Given the description of an element on the screen output the (x, y) to click on. 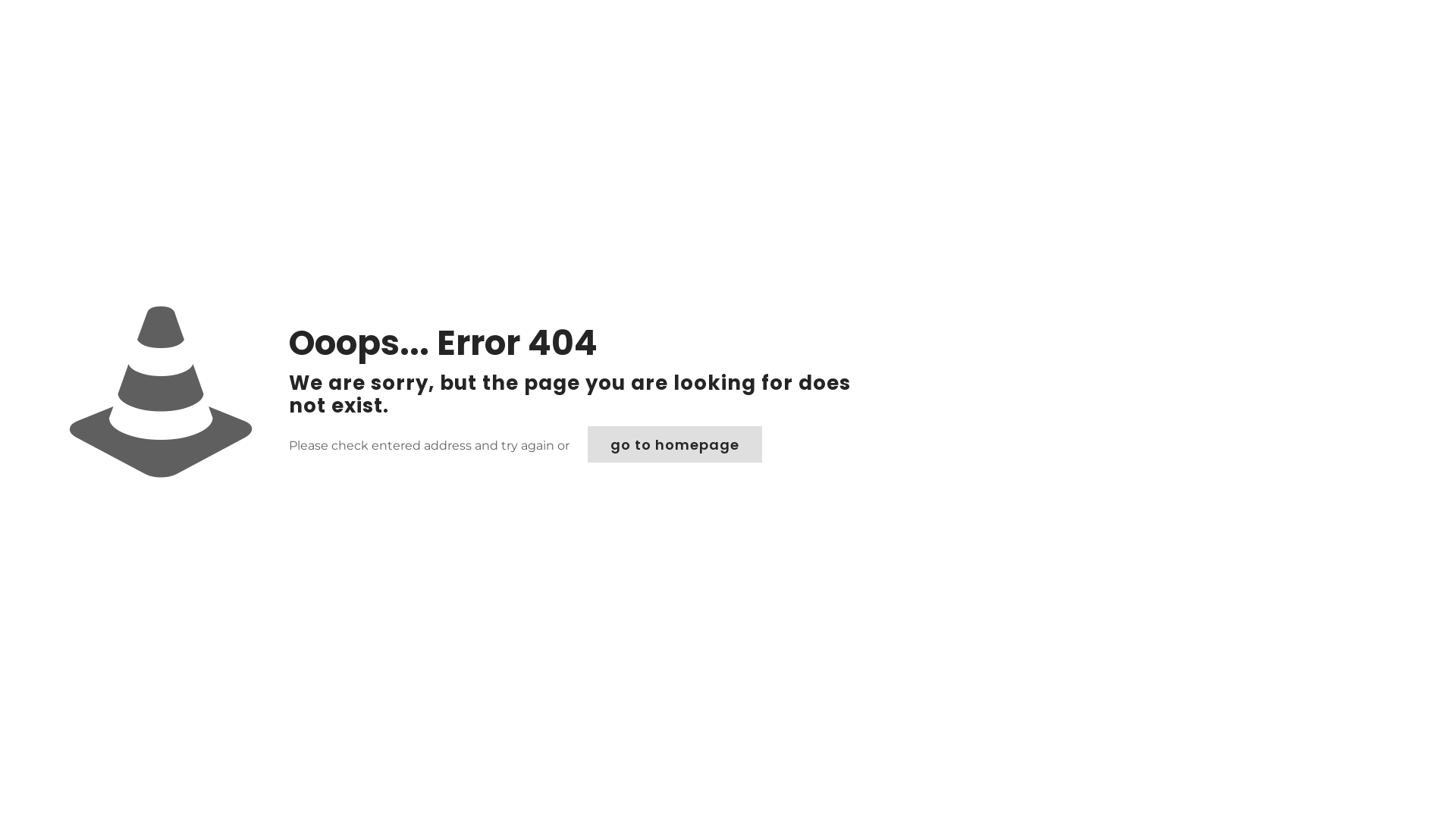
go to homepage Element type: text (674, 444)
